Given the description of an element on the screen output the (x, y) to click on. 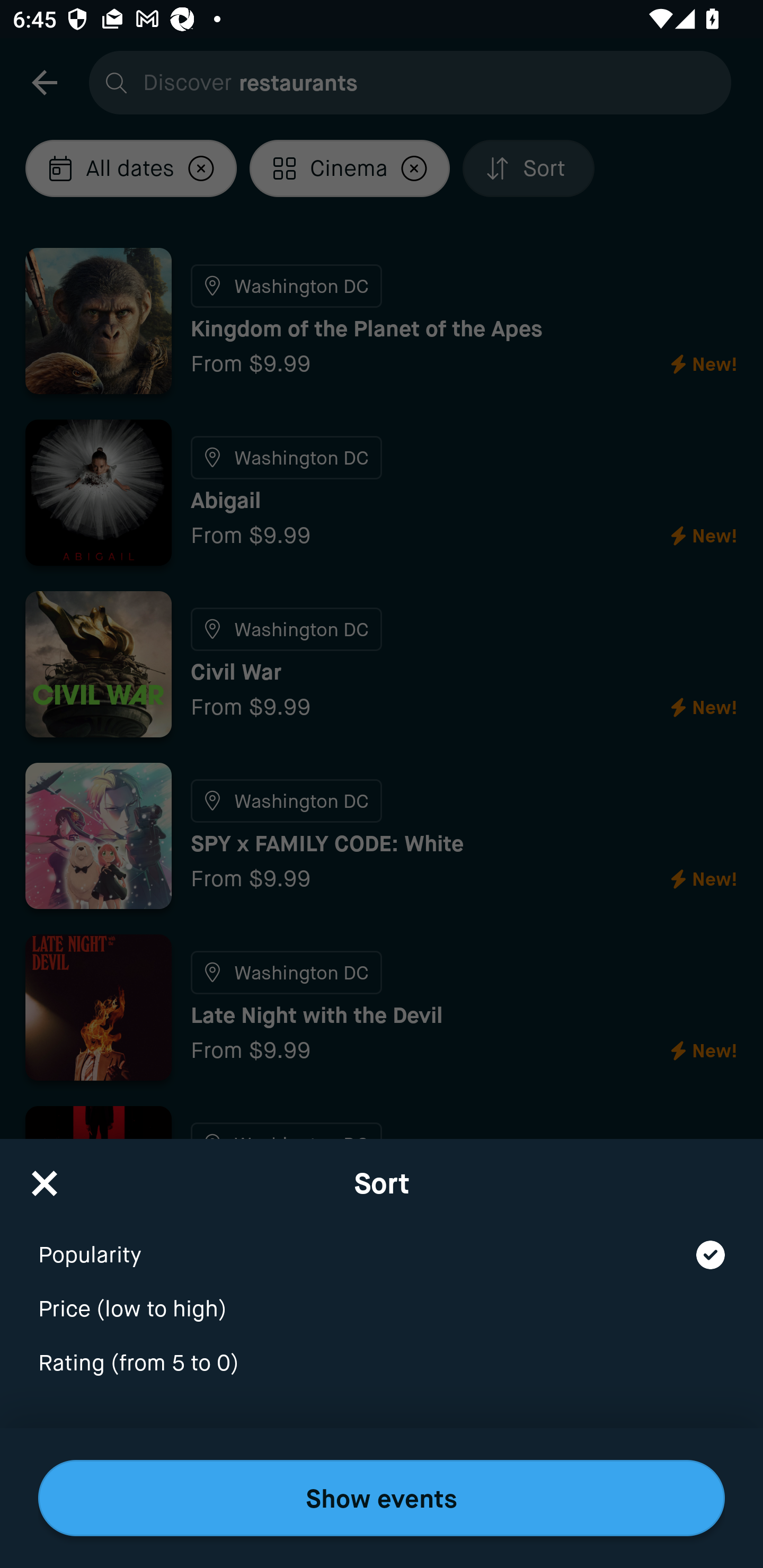
CloseButton (44, 1177)
Popularity Selected Icon (381, 1243)
Price (low to high) (381, 1297)
Rating (from 5 to 0) (381, 1362)
Show events (381, 1497)
